Given the description of an element on the screen output the (x, y) to click on. 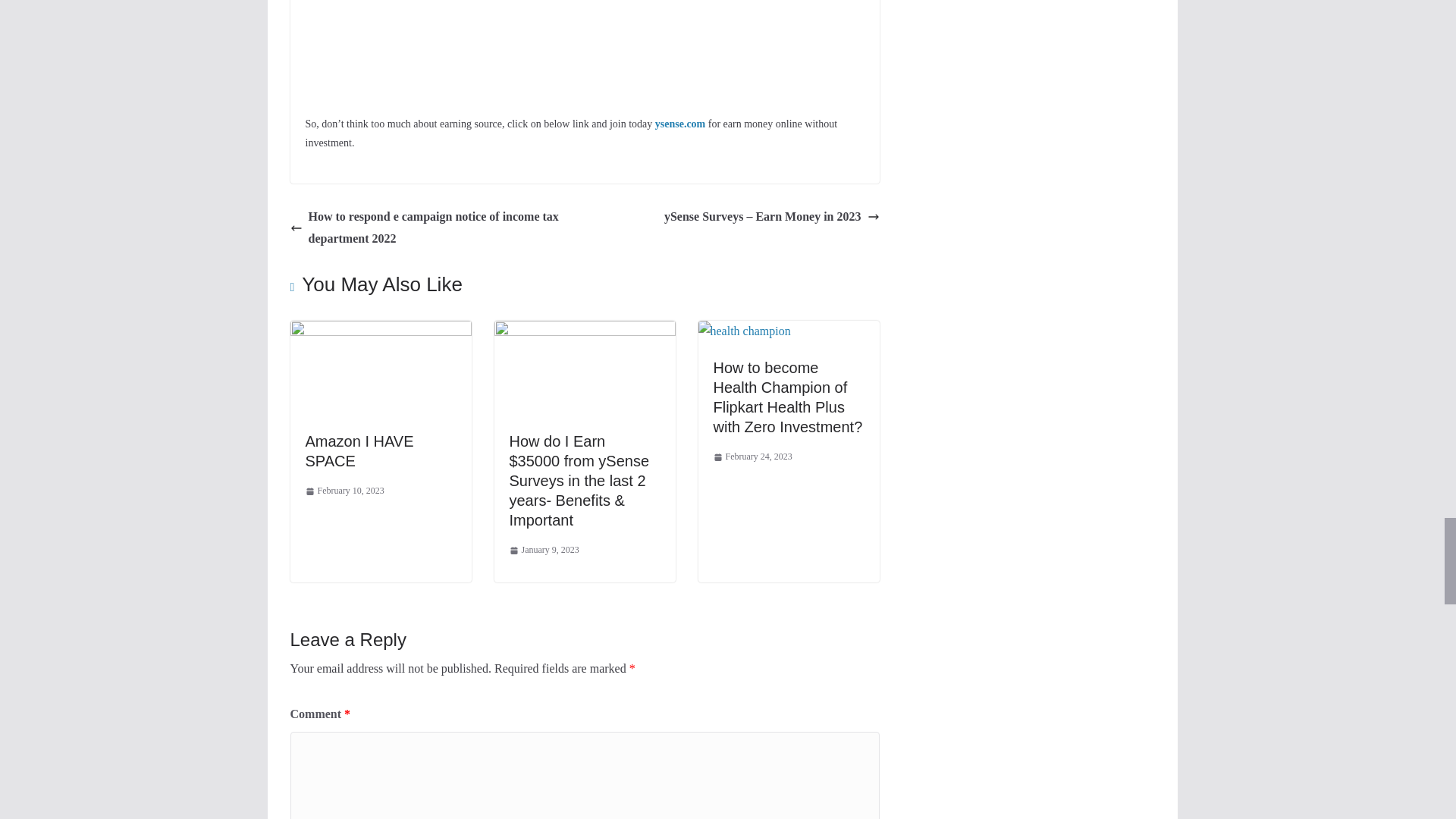
11:18 am (344, 491)
Amazon I HAVE SPACE (358, 451)
Amazon I HAVE SPACE (379, 330)
